Given the description of an element on the screen output the (x, y) to click on. 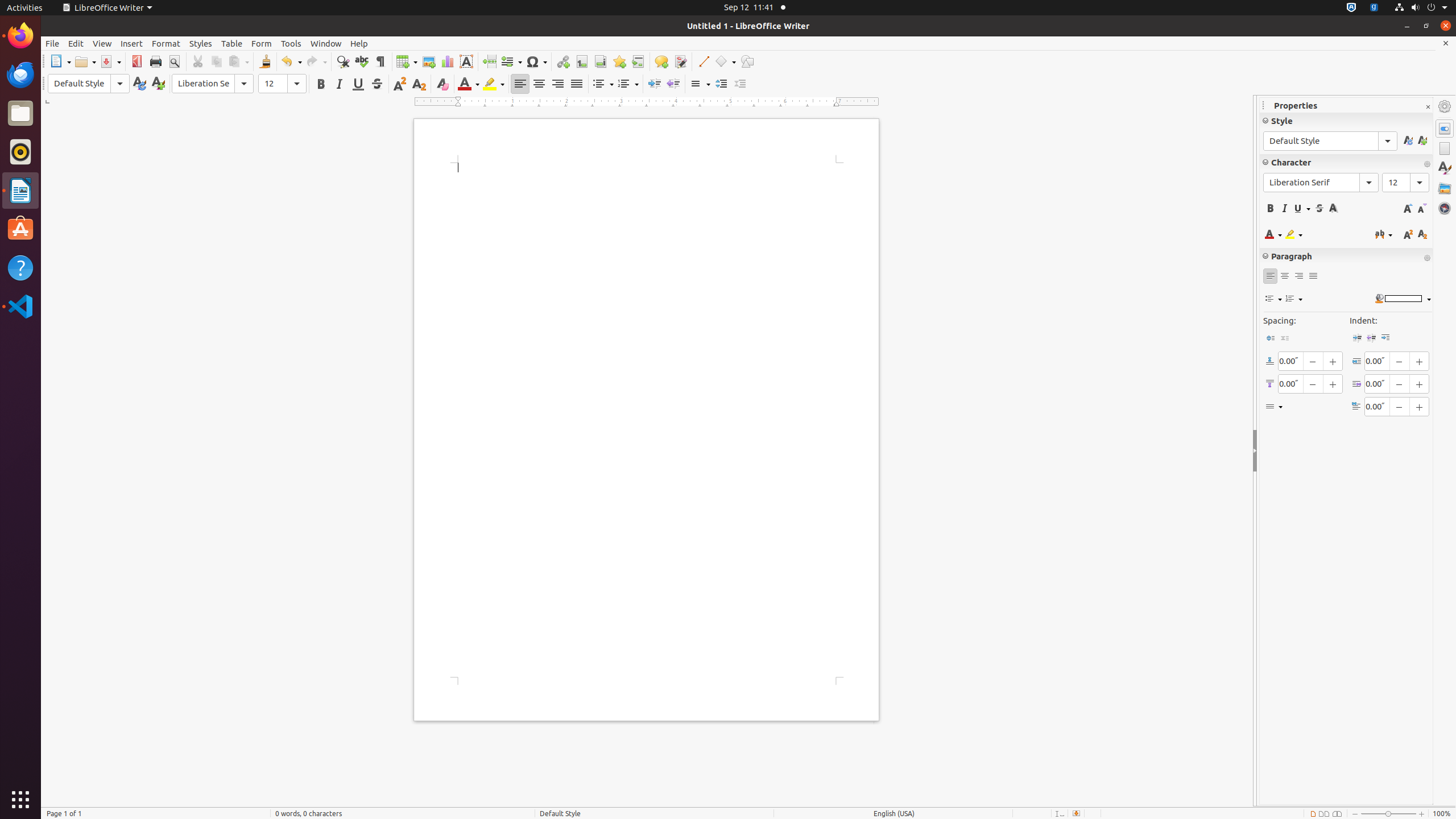
Image Element type: push-button (428, 61)
Clone Element type: push-button (264, 61)
LibreOffice Writer Element type: menu (106, 7)
Shadow Element type: toggle-button (1333, 208)
Print Element type: push-button (155, 61)
